Given the description of an element on the screen output the (x, y) to click on. 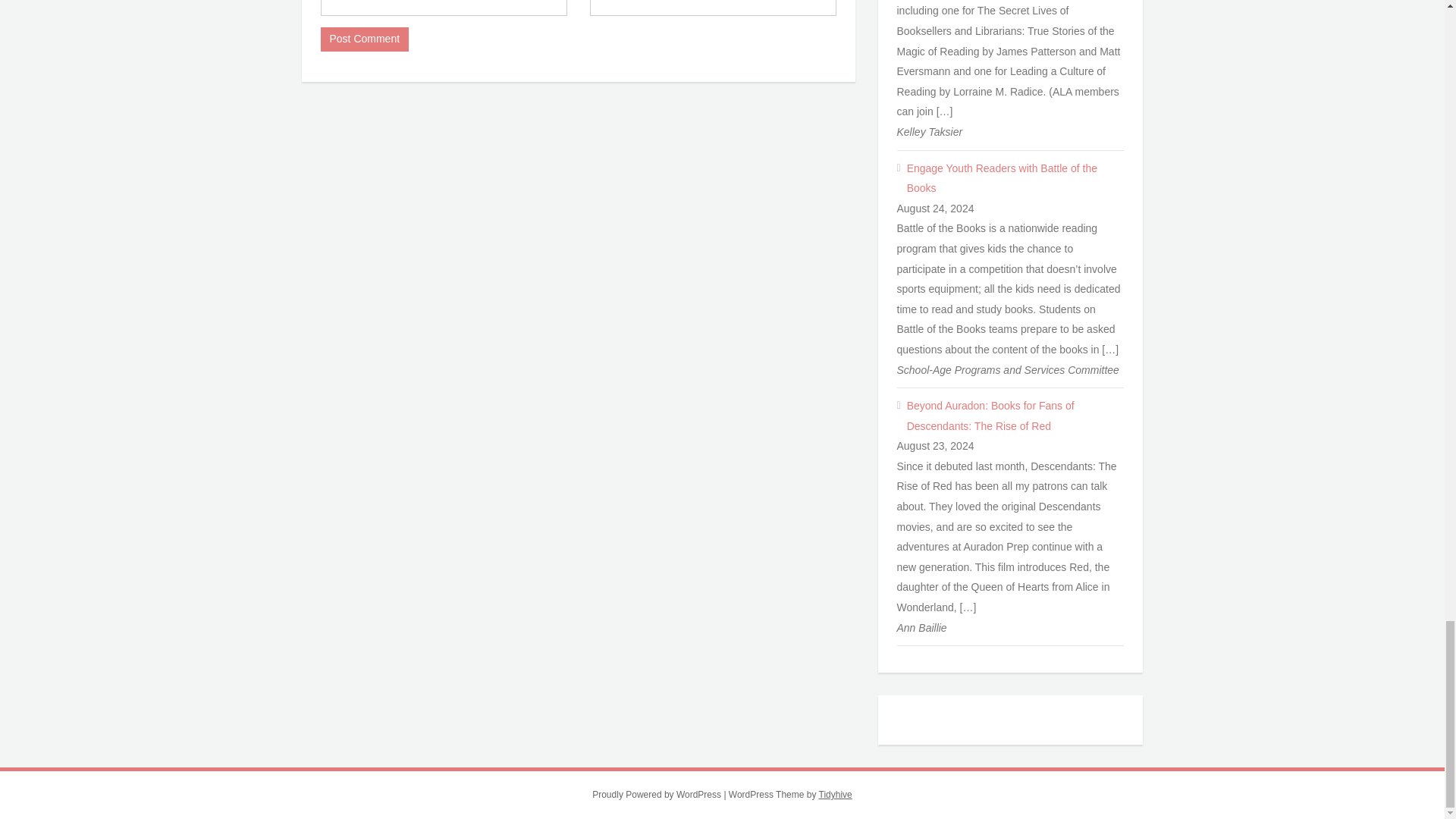
Post Comment (364, 39)
Post Comment (364, 39)
Engage Youth Readers with Battle of the Books (1015, 178)
